Given the description of an element on the screen output the (x, y) to click on. 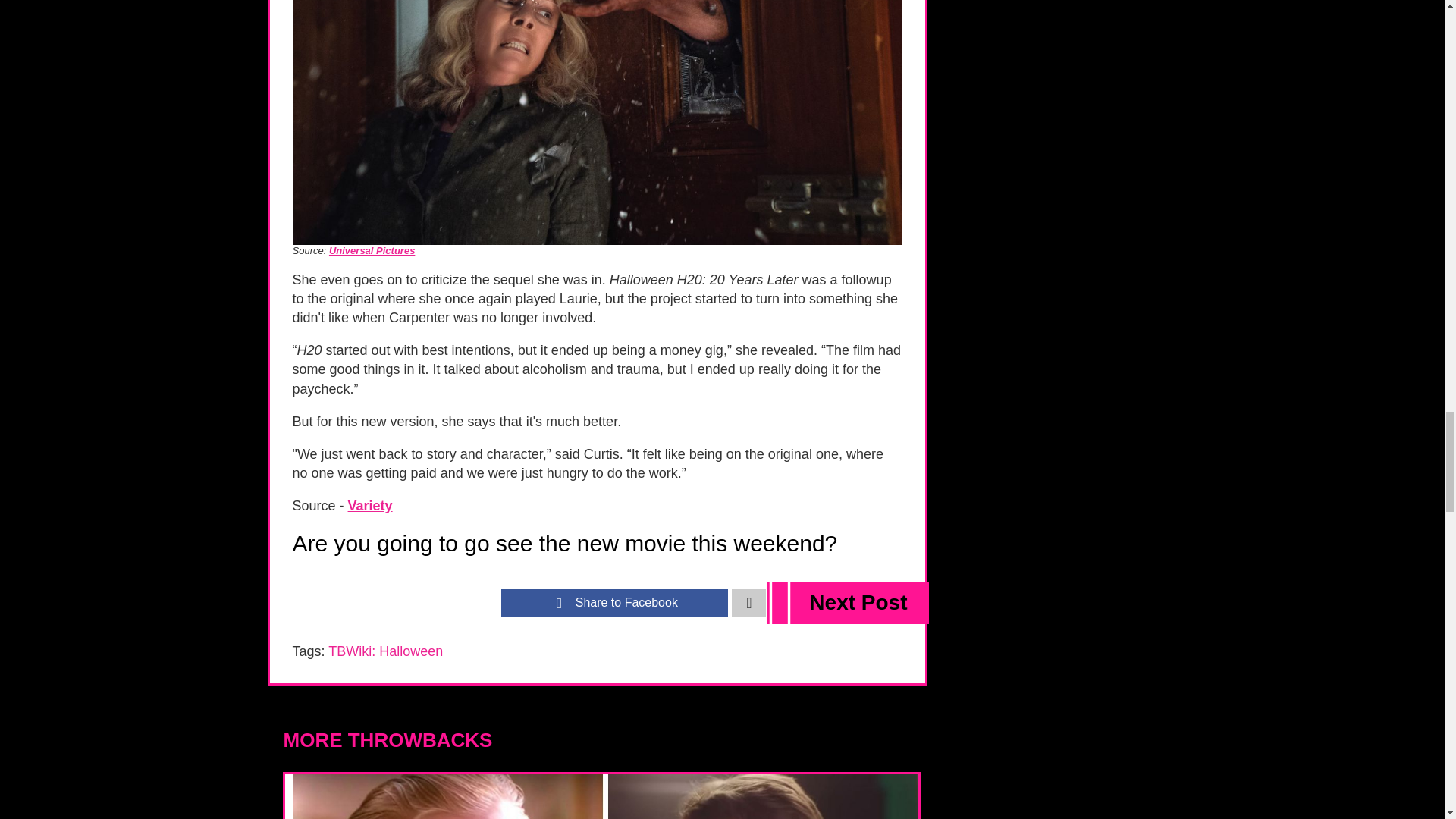
Toggle navigation (748, 602)
Next Post (847, 602)
Universal Pictures (371, 250)
TBWiki: Halloween (385, 651)
facebook (614, 602)
Variety (370, 505)
